Given the description of an element on the screen output the (x, y) to click on. 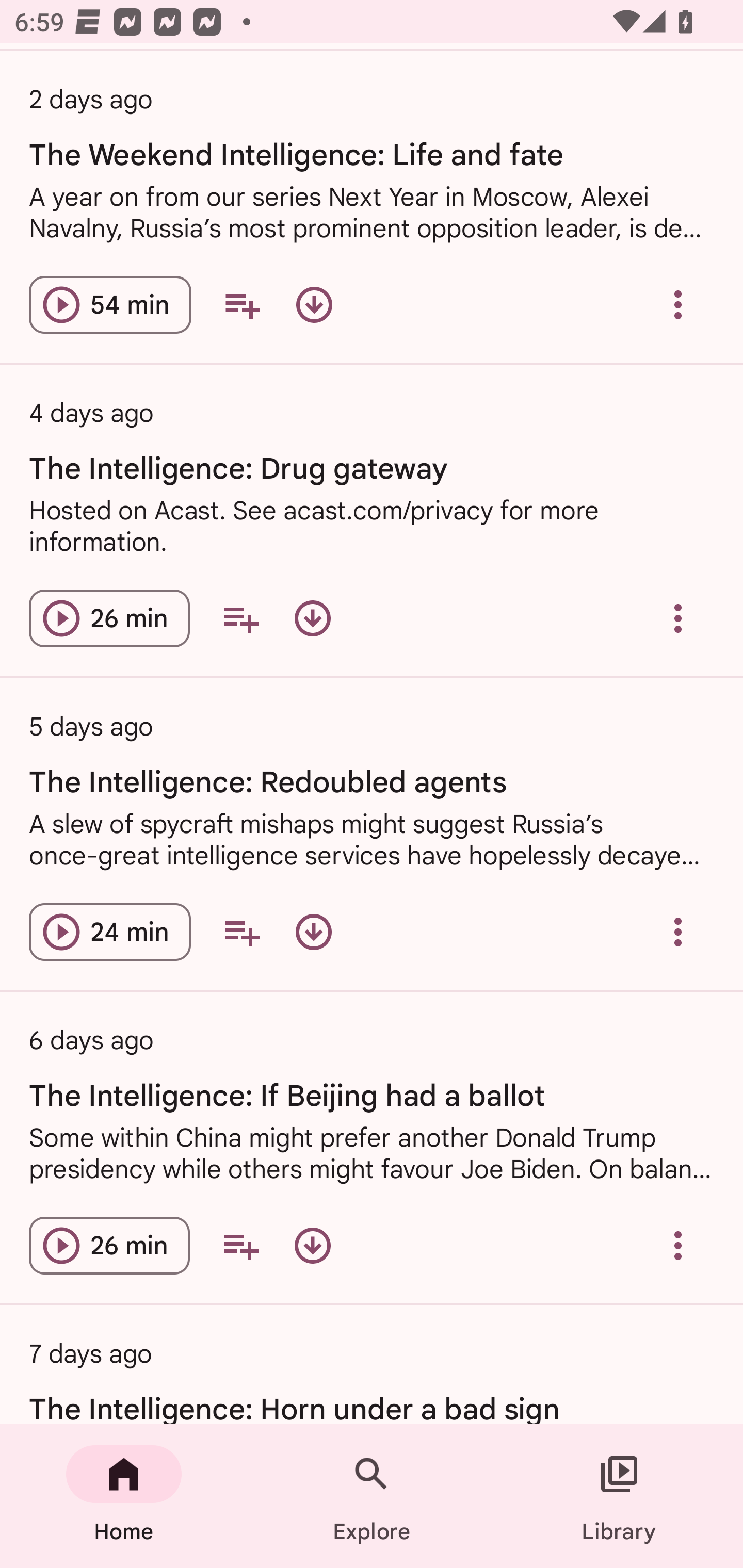
Add to your queue (241, 304)
Download episode (313, 304)
Overflow menu (677, 304)
Play episode The Intelligence: Drug gateway 26 min (109, 618)
Add to your queue (240, 618)
Download episode (312, 618)
Overflow menu (677, 618)
Add to your queue (241, 932)
Download episode (313, 932)
Overflow menu (677, 932)
Add to your queue (240, 1245)
Download episode (312, 1245)
Overflow menu (677, 1245)
7 days ago The Intelligence: Horn under a bad sign (371, 1364)
Explore (371, 1495)
Library (619, 1495)
